Given the description of an element on the screen output the (x, y) to click on. 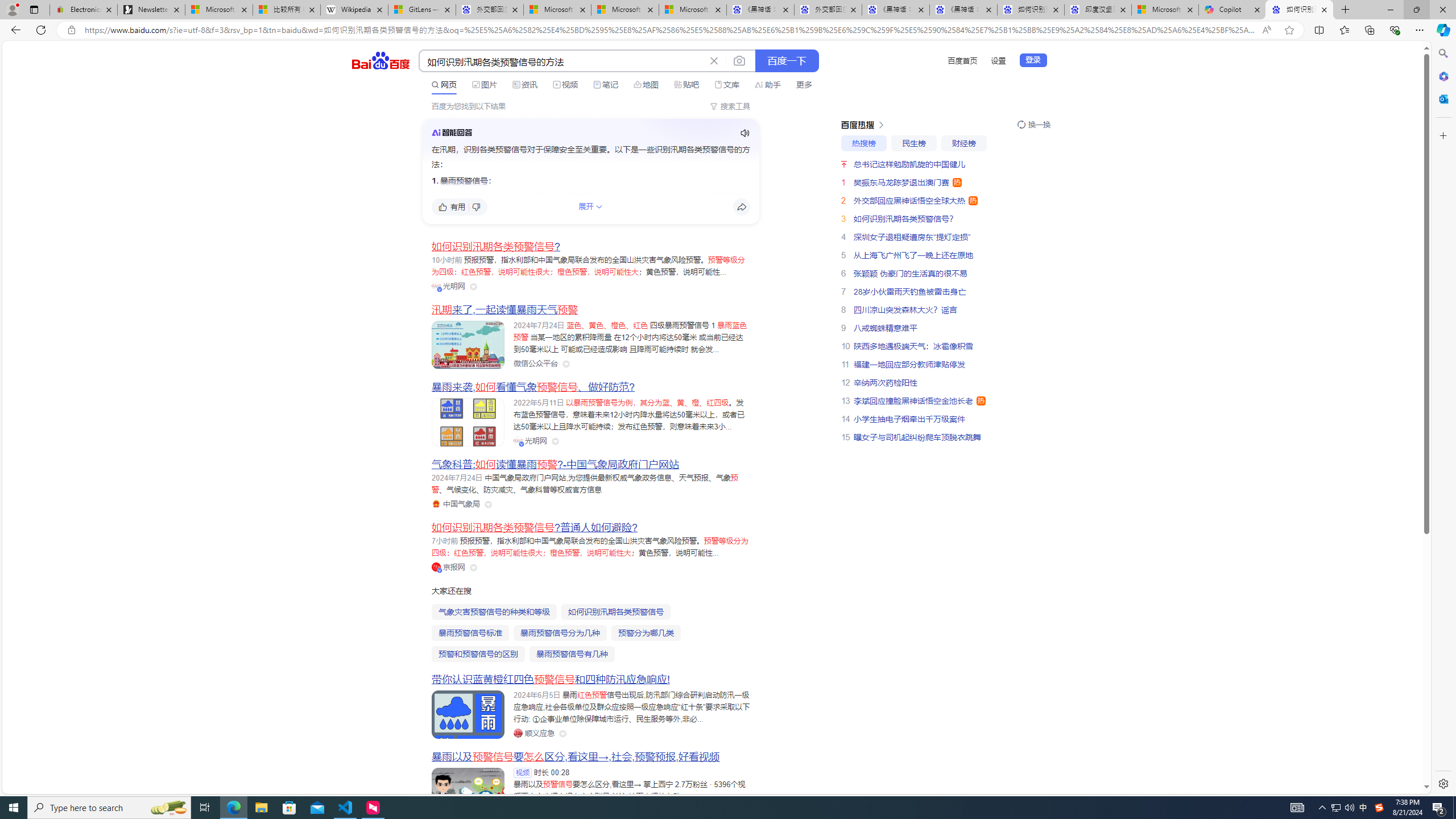
Newsletter Sign Up (150, 9)
Class: sc-audio-svg _pause-icon_13ucw_87 (745, 132)
